Given the description of an element on the screen output the (x, y) to click on. 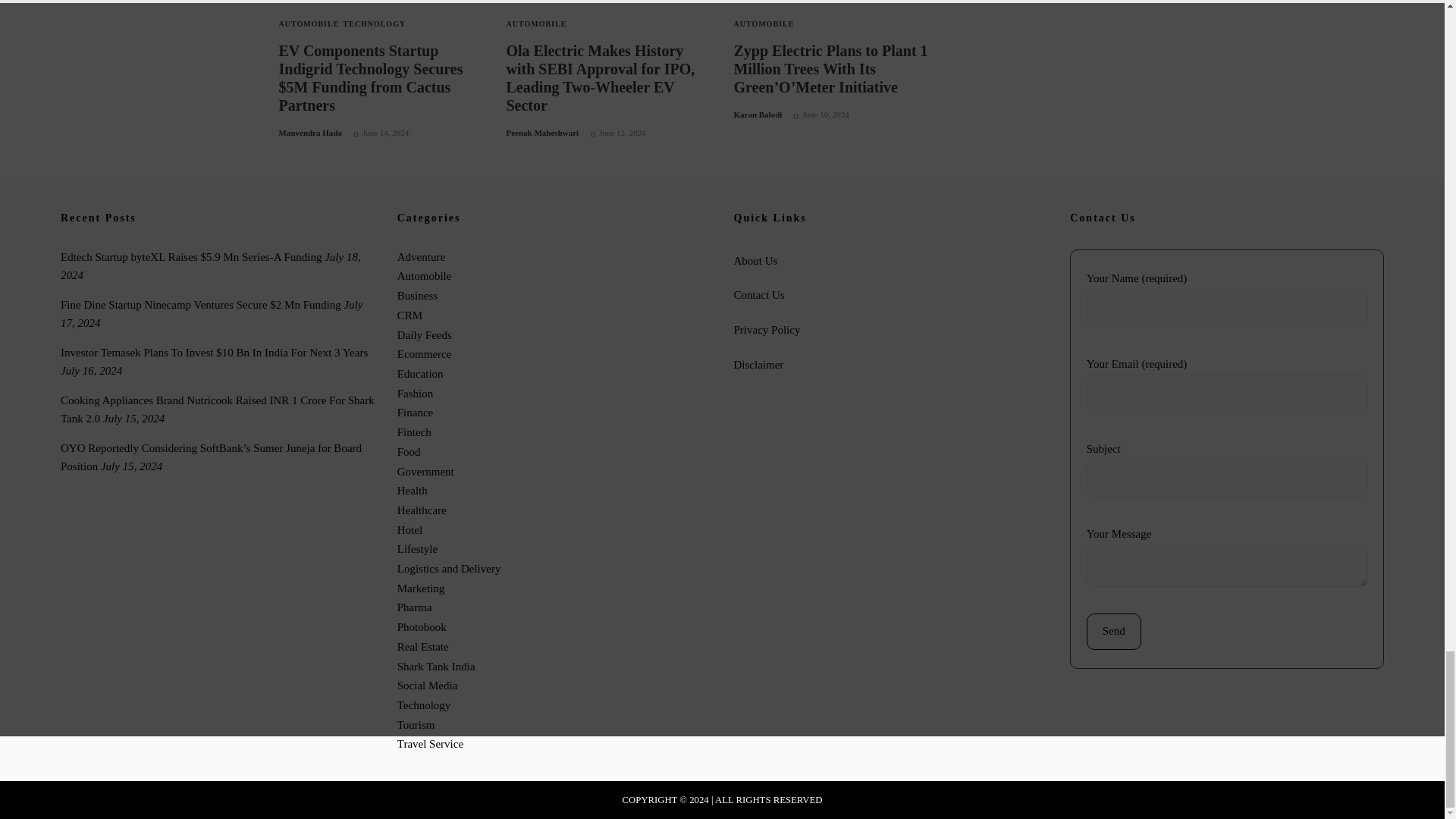
Send (1113, 631)
